Given the description of an element on the screen output the (x, y) to click on. 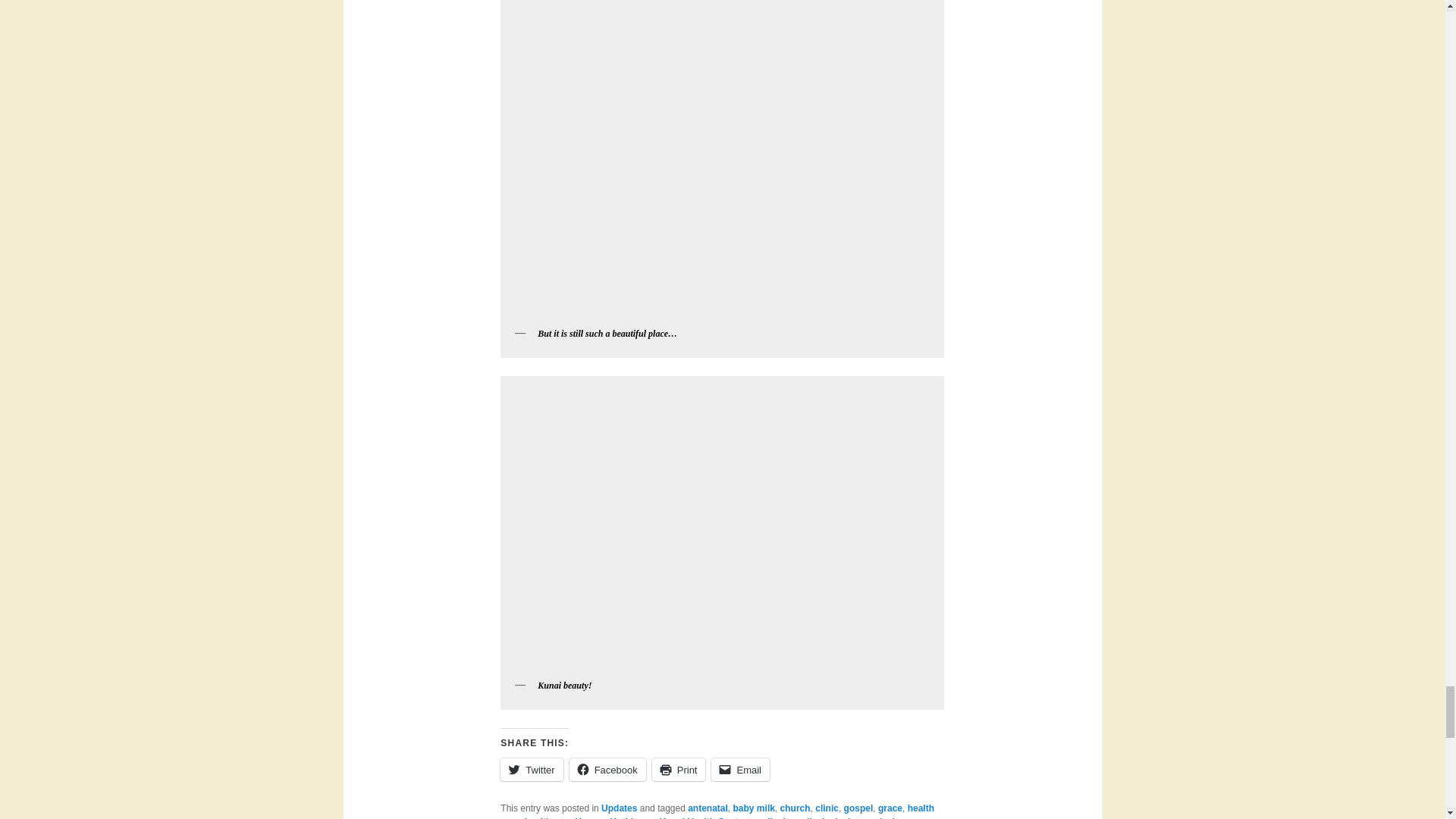
antenatal (707, 808)
gospel (858, 808)
Updates (619, 808)
Click to email a link to a friend (740, 769)
Click to share on Twitter (531, 769)
Email (740, 769)
medical (768, 817)
Kotidanga (631, 817)
healthcare (547, 817)
baby milk (753, 808)
Print (679, 769)
grace (889, 808)
church (795, 808)
missions (890, 817)
clinic (826, 808)
